Given the description of an element on the screen output the (x, y) to click on. 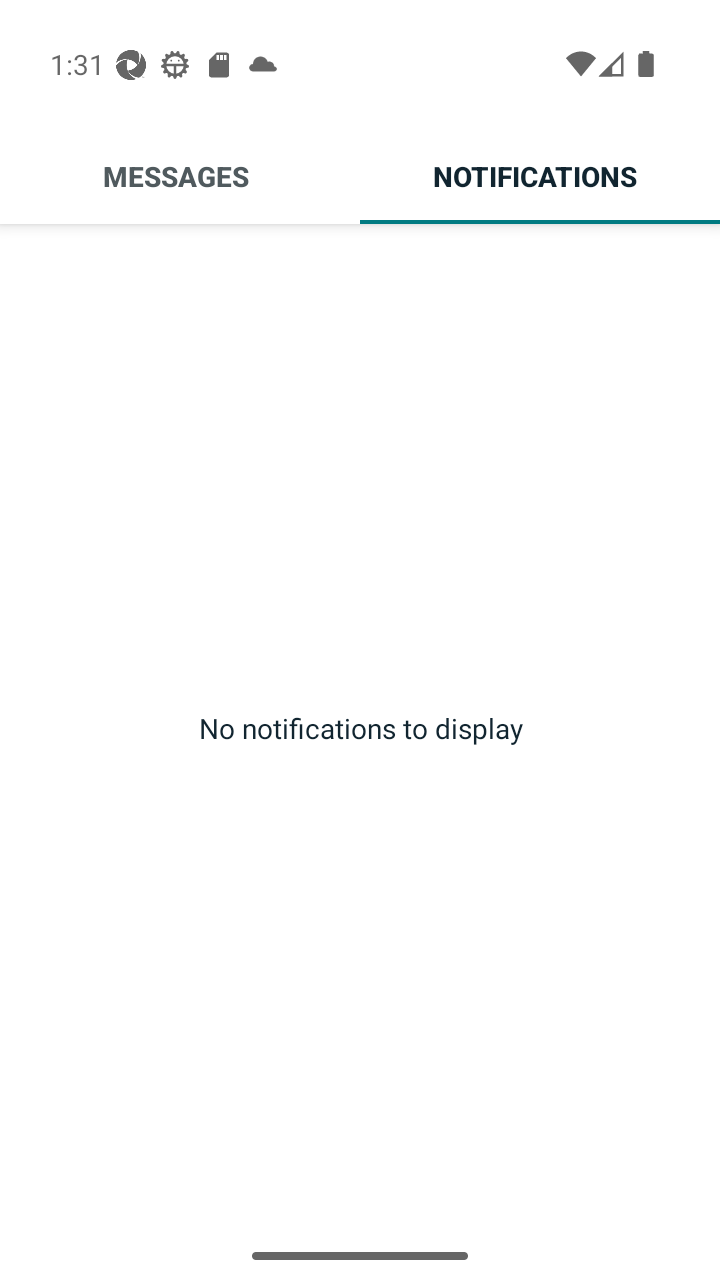
Messages MESSAGES (180, 176)
